Given the description of an element on the screen output the (x, y) to click on. 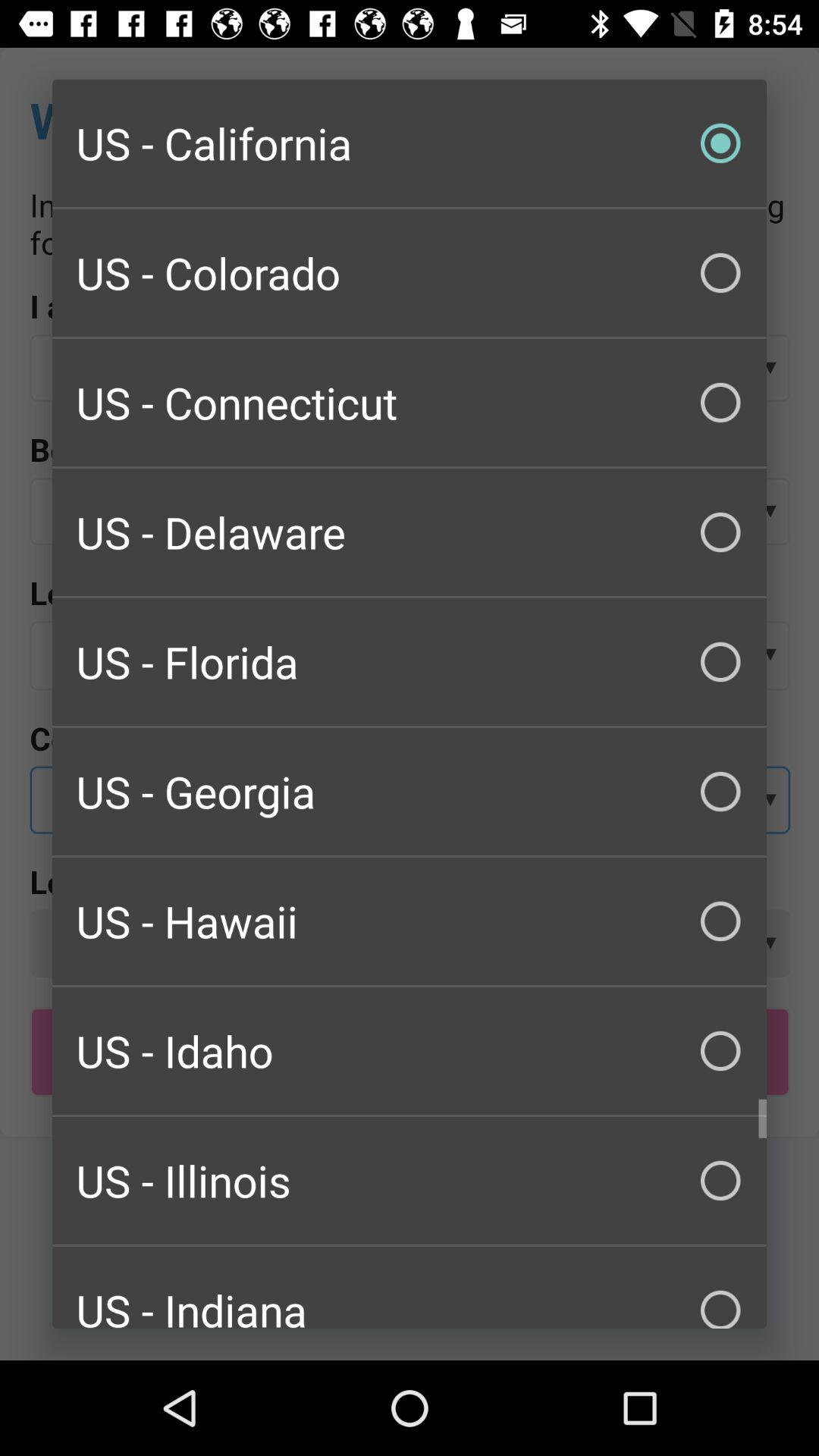
jump until us - california checkbox (409, 143)
